Given the description of an element on the screen output the (x, y) to click on. 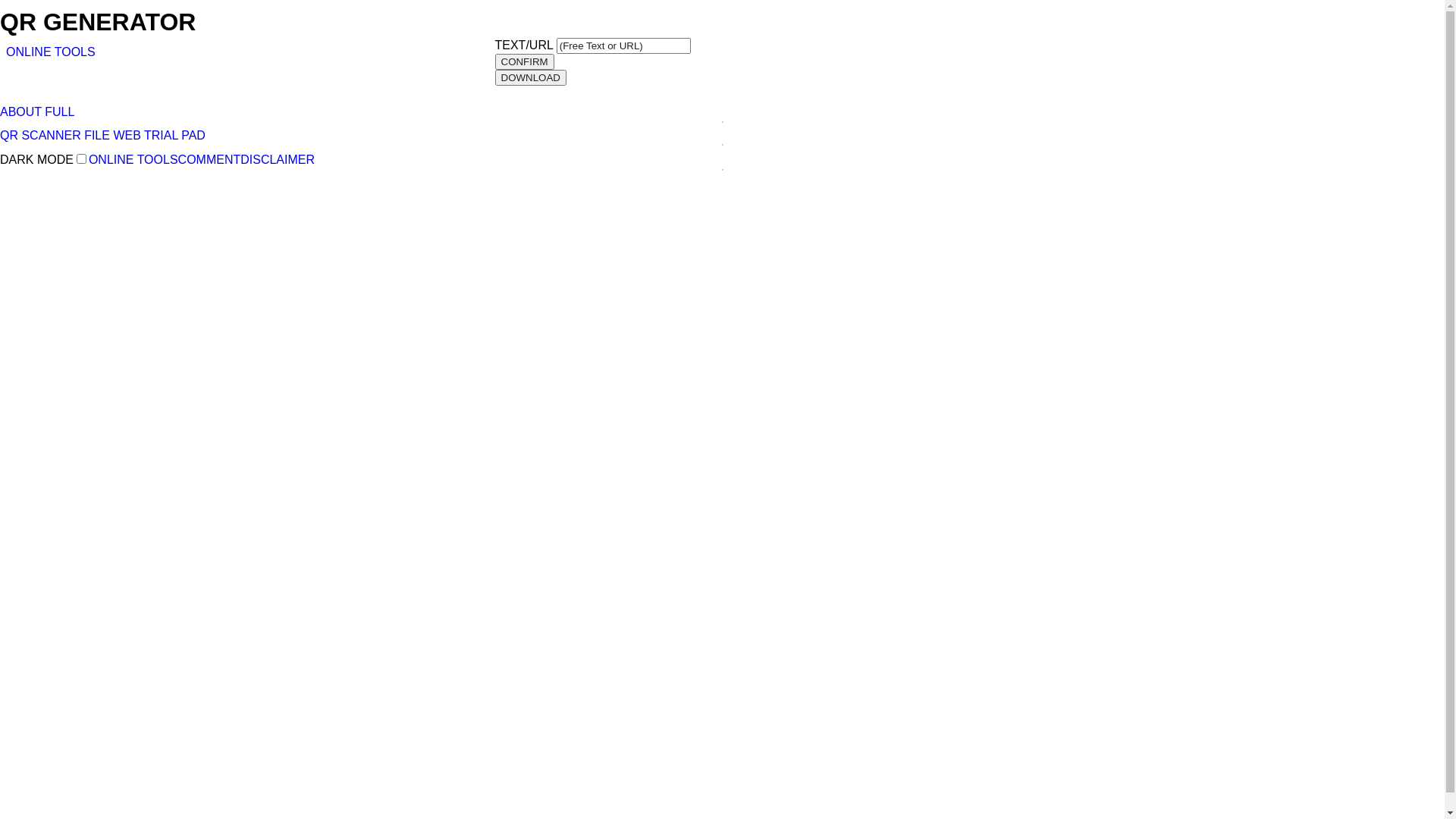
FILE WEB Element type: text (112, 134)
COMMENT Element type: text (209, 159)
ONLINE TOOLS Element type: text (50, 51)
QR SCANNER Element type: text (40, 134)
DISCLAIMER Element type: text (277, 159)
ABOUT Element type: text (20, 111)
FULL Element type: text (59, 111)
TRIAL PAD Element type: text (174, 134)
ONLINE TOOLS Element type: text (133, 159)
